Given the description of an element on the screen output the (x, y) to click on. 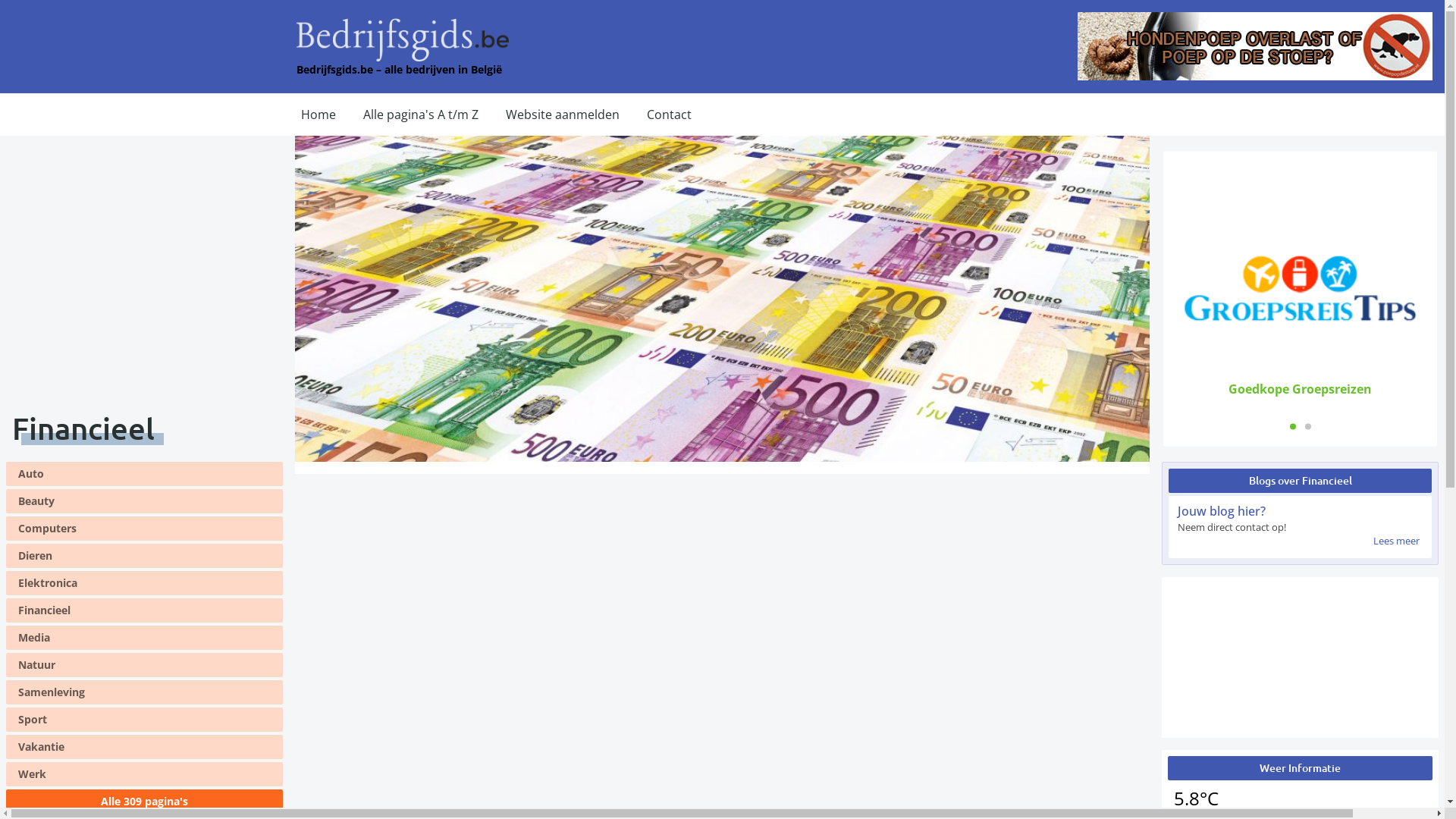
Financieel Element type: text (144, 610)
Goedkope Groepsreizen Element type: text (1299, 387)
Alle 309 pagina's Element type: text (144, 801)
Computers Element type: text (144, 528)
Beauty Element type: text (144, 501)
Alle pagina's A t/m Z Element type: text (420, 114)
Elektronica Element type: text (144, 583)
Contact Element type: text (668, 114)
Dieren Element type: text (144, 555)
Natuur Element type: text (144, 664)
Media Element type: text (144, 637)
M&M WebMedia animatievideo Element type: hover (1299, 657)
Jouw blog hier?
Neem direct contact op!
Lees meer Element type: text (1299, 526)
Sport Element type: text (144, 719)
Vakantie Element type: text (144, 746)
2 Element type: text (1307, 426)
Samenleving Element type: text (144, 692)
1 Element type: text (1292, 426)
Werk Element type: text (144, 774)
Home Element type: text (318, 114)
Auto Element type: text (144, 473)
Website aanmelden Element type: text (562, 114)
